Given the description of an element on the screen output the (x, y) to click on. 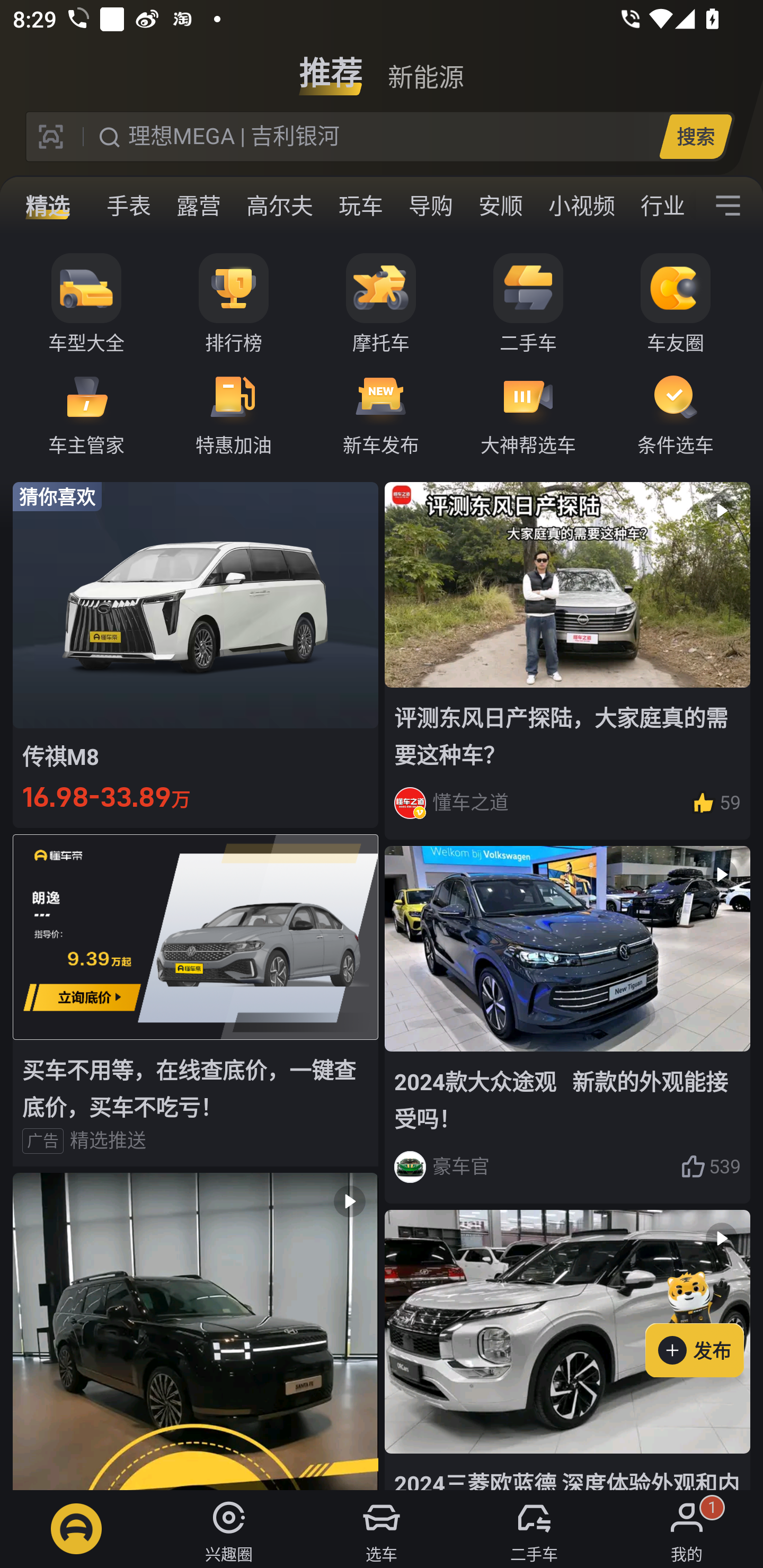
推荐 (330, 65)
新能源 (425, 65)
搜索 (695, 136)
手表 (128, 205)
露营 (198, 205)
高尔夫 (279, 205)
玩车 (360, 205)
导购 (430, 205)
安顺 (500, 205)
小视频 (581, 205)
行业 (661, 205)
 (727, 205)
精选 (47, 206)
车型大全 (86, 303)
排行榜 (233, 303)
摩托车 (380, 303)
二手车 (528, 303)
车友圈 (675, 303)
车主管家 (86, 412)
特惠加油 (233, 412)
新车发布 (380, 412)
大神帮选车 (528, 412)
条件选车 (675, 412)
猜你喜欢 传祺M8 16.98-33.89万 (195, 654)
 评测东风日产探陆，大家庭真的需要这种车？ 懂车之道 59 (567, 659)
59 (715, 802)
买车不用等，在线查底价，一键查底价，买车不吃亏！ 广告 精选推送 (195, 1000)
 2024款大众途观   新款的外观能接受吗！ 豪车官 539 (567, 1025)
539 (710, 1166)
 (195, 1330)
 2024三菱欧蓝德 深度体验外观和内饰 三菱真的要退出中国市场了？ (567, 1349)
发布 (704, 1320)
 兴趣圈 (228, 1528)
 选车 (381, 1528)
 二手车 (533, 1528)
 我的 (686, 1528)
